Given the description of an element on the screen output the (x, y) to click on. 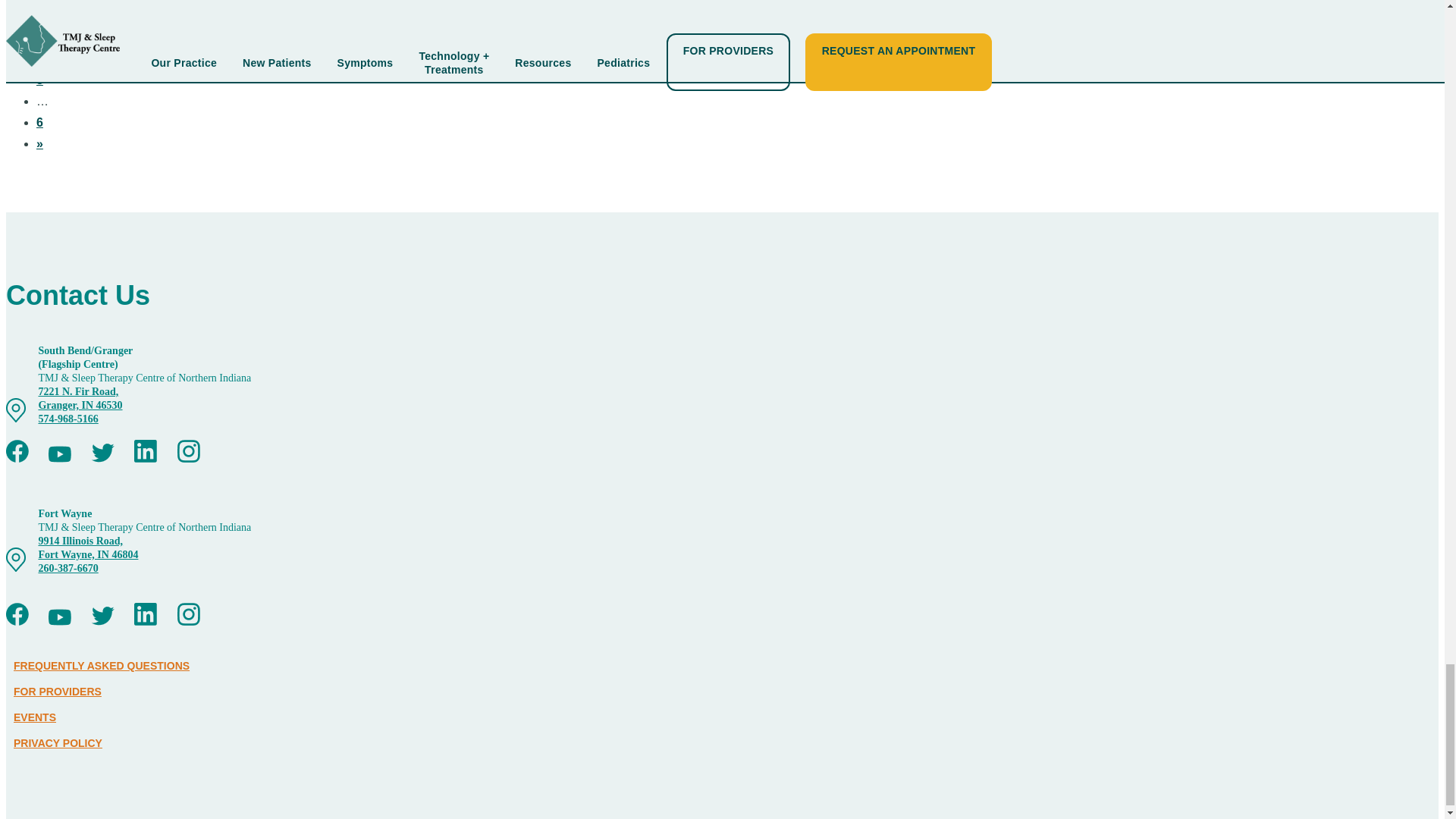
9914 Illinois Road, (79, 541)
574-968-5166 (67, 419)
7221 N. Fir Road, (77, 391)
Granger, IN 46530 (79, 405)
